Given the description of an element on the screen output the (x, y) to click on. 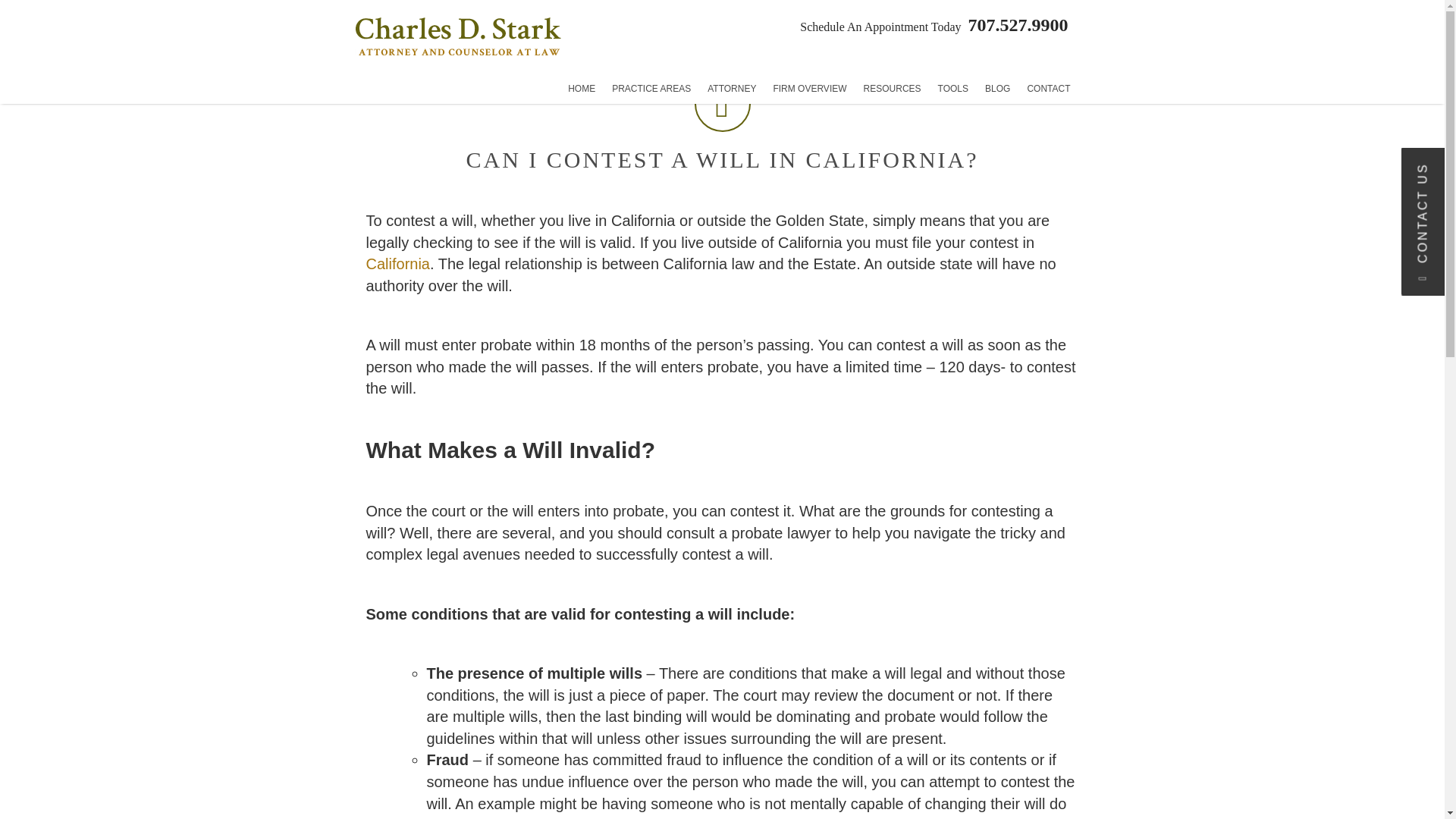
RESOURCES (893, 88)
FIRM OVERVIEW (809, 88)
ATTORNEY (731, 88)
CONTACT (1047, 88)
HOME (581, 88)
BLOG (996, 88)
California (397, 263)
TOOLS (953, 88)
PRACTICE AREAS (651, 88)
